Given the description of an element on the screen output the (x, y) to click on. 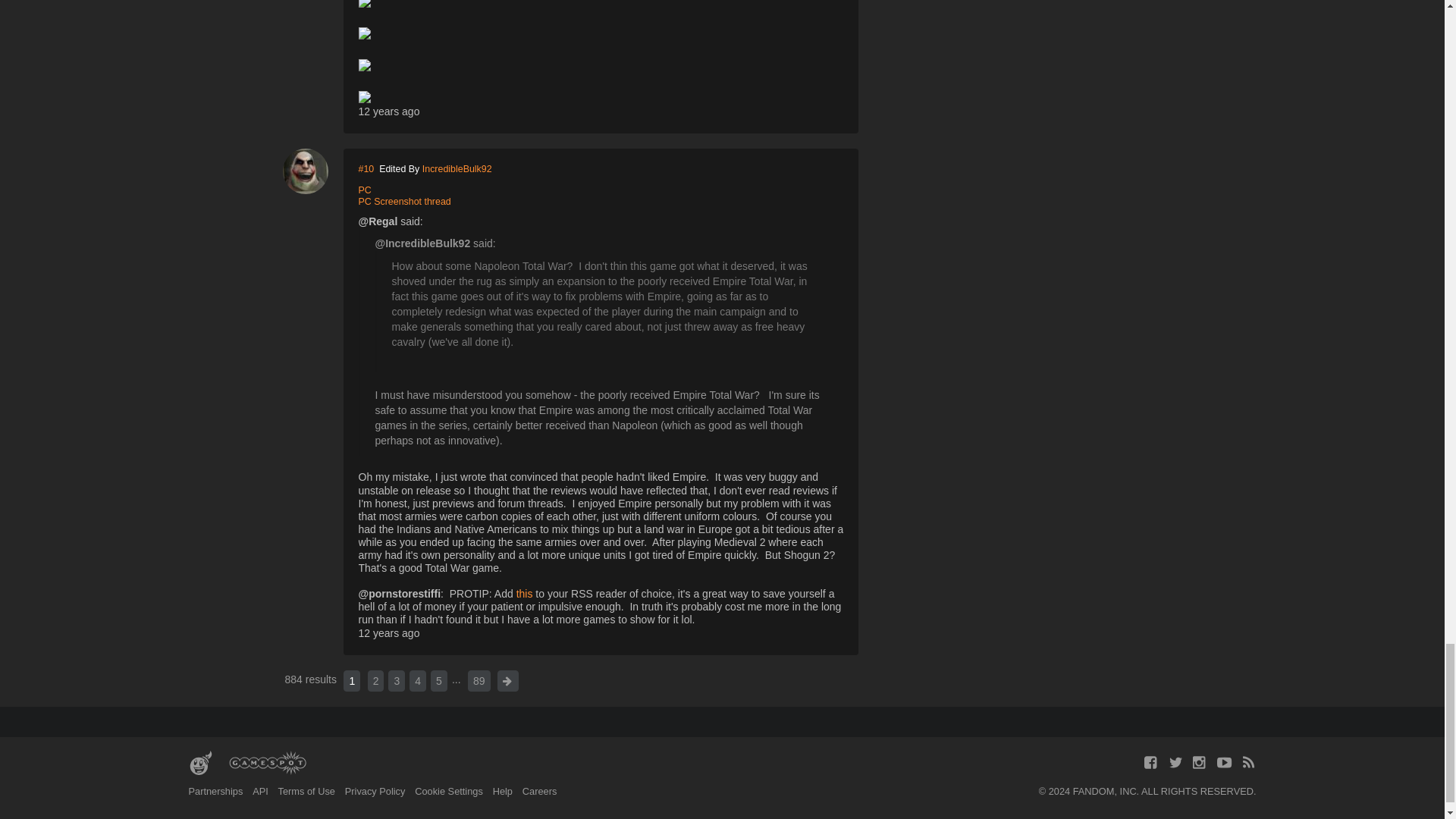
Jul 30, 2011, 3:10am (388, 633)
Giant Bomb (199, 763)
Jul 30, 2011, 6:52am (388, 111)
Next page (507, 680)
GameSpot (266, 763)
